Given the description of an element on the screen output the (x, y) to click on. 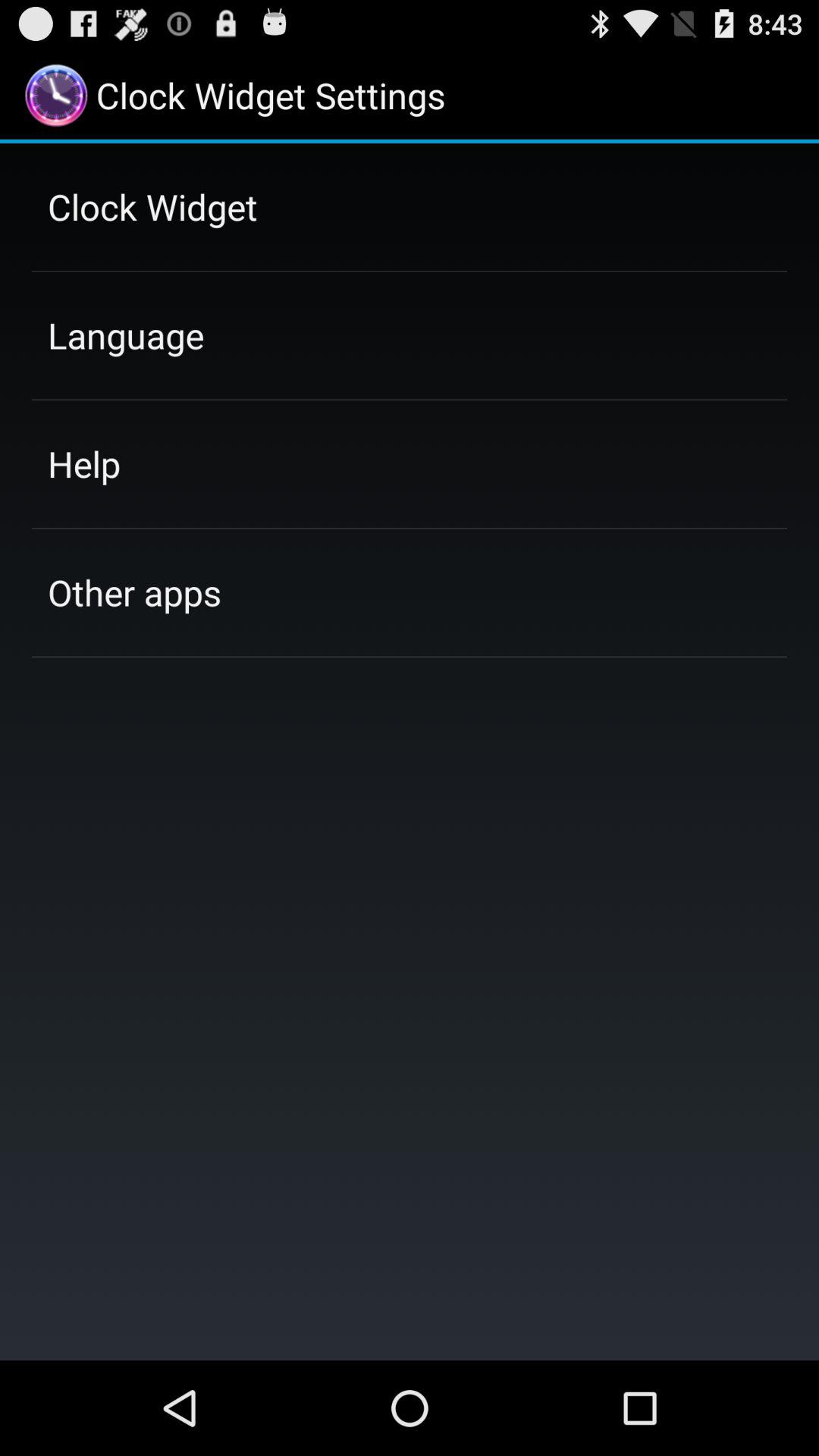
press help icon (83, 463)
